Given the description of an element on the screen output the (x, y) to click on. 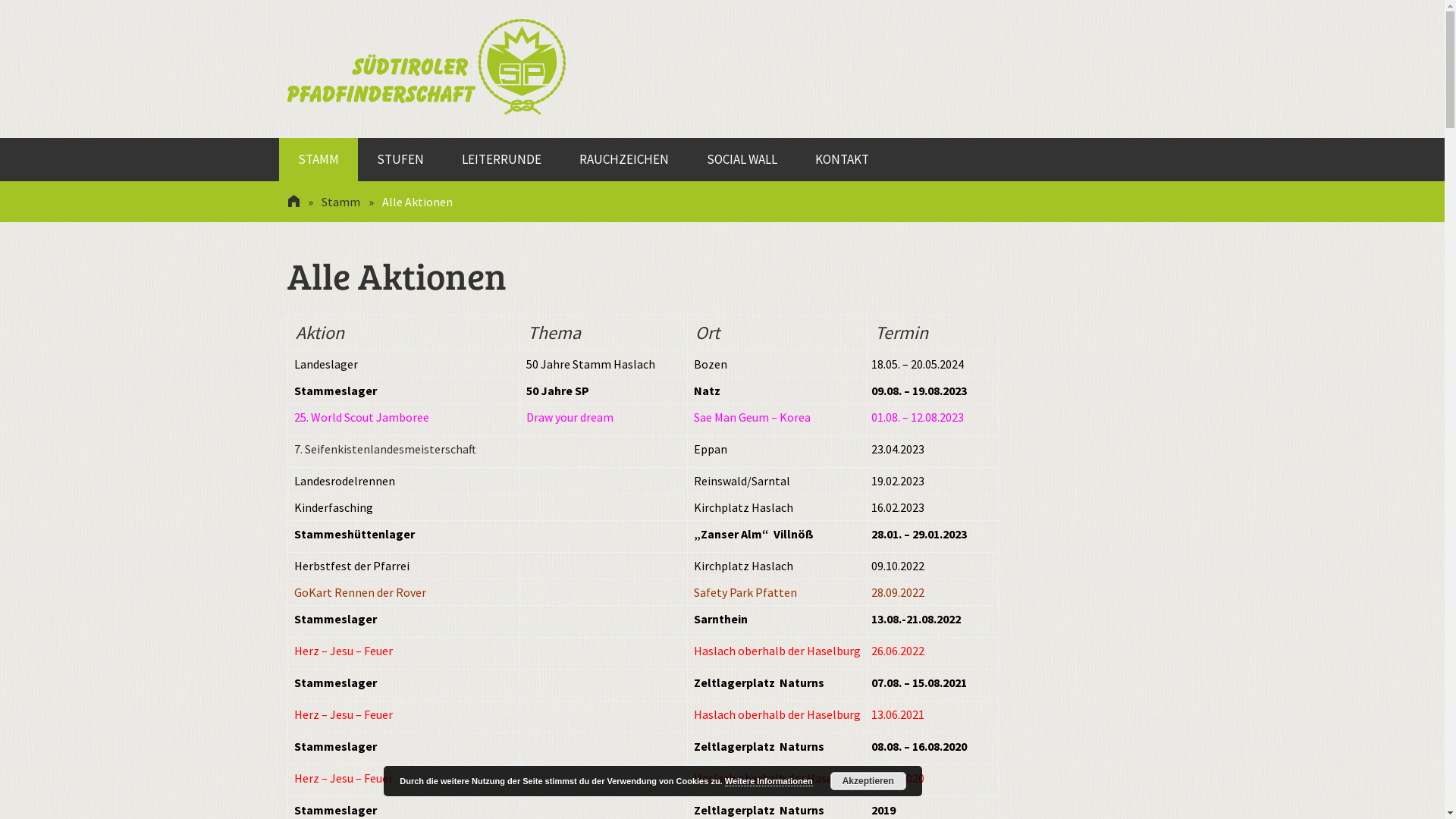
RAUCHZEICHEN Element type: text (623, 159)
Skip to content Element type: text (296, 137)
LEITERRUNDE Element type: text (501, 159)
Akzeptieren Element type: text (868, 780)
STAMM Element type: text (318, 159)
KONTAKT Element type: text (842, 159)
Stamm Element type: text (340, 201)
Weitere Informationen Element type: text (768, 781)
STUFEN Element type: text (399, 159)
SOCIAL WALL Element type: text (741, 159)
